Given the description of an element on the screen output the (x, y) to click on. 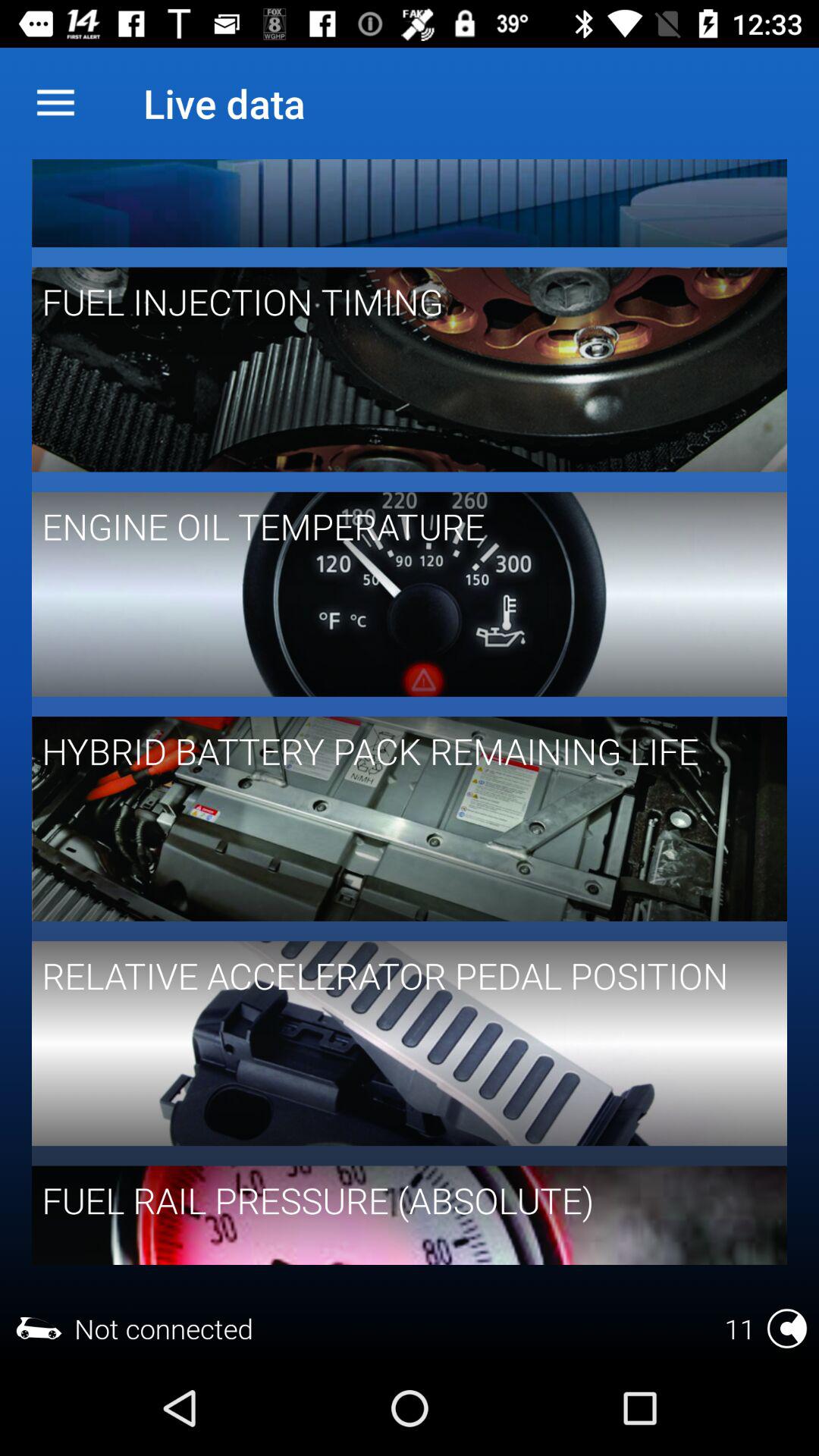
flip until fuel injection timing (398, 301)
